Given the description of an element on the screen output the (x, y) to click on. 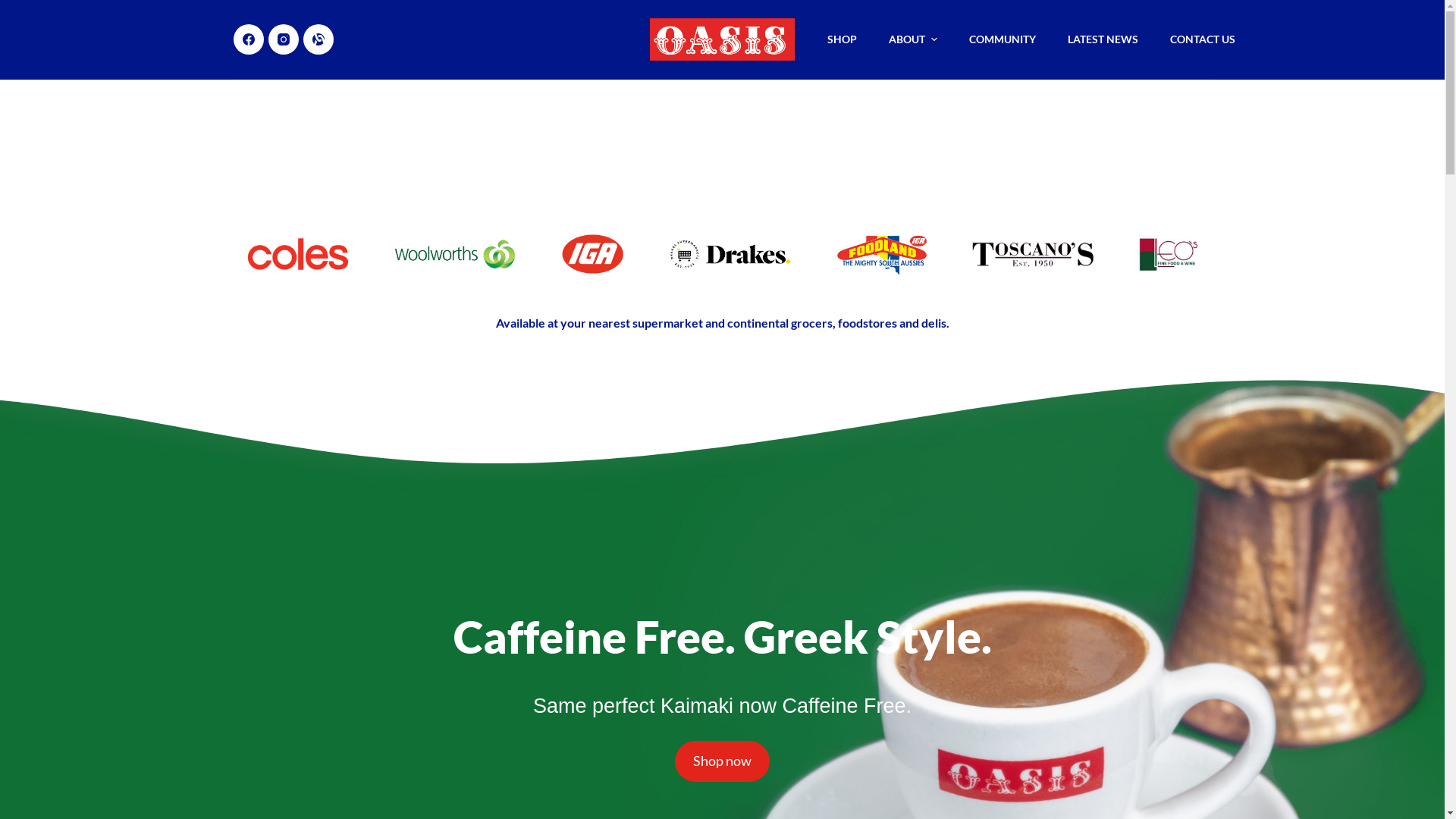
COMMUNITY Element type: text (1002, 39)
Shop now Element type: text (721, 760)
CONTACT US Element type: text (1202, 39)
ABOUT Element type: text (912, 39)
Skip to content Element type: text (15, 7)
SHOP Element type: text (841, 39)
LATEST NEWS Element type: text (1102, 39)
